Given the description of an element on the screen output the (x, y) to click on. 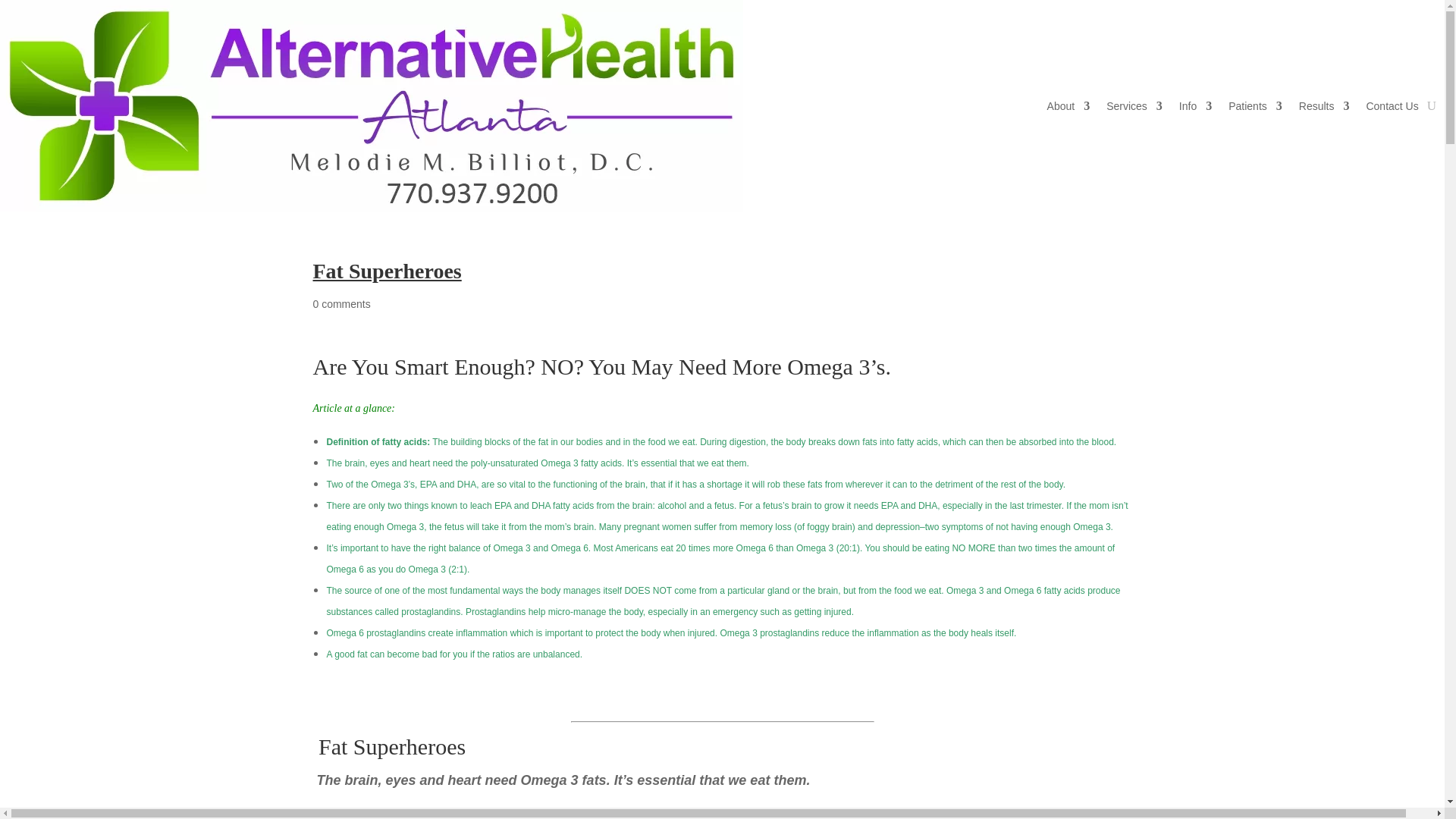
0 comments (341, 304)
